Given the description of an element on the screen output the (x, y) to click on. 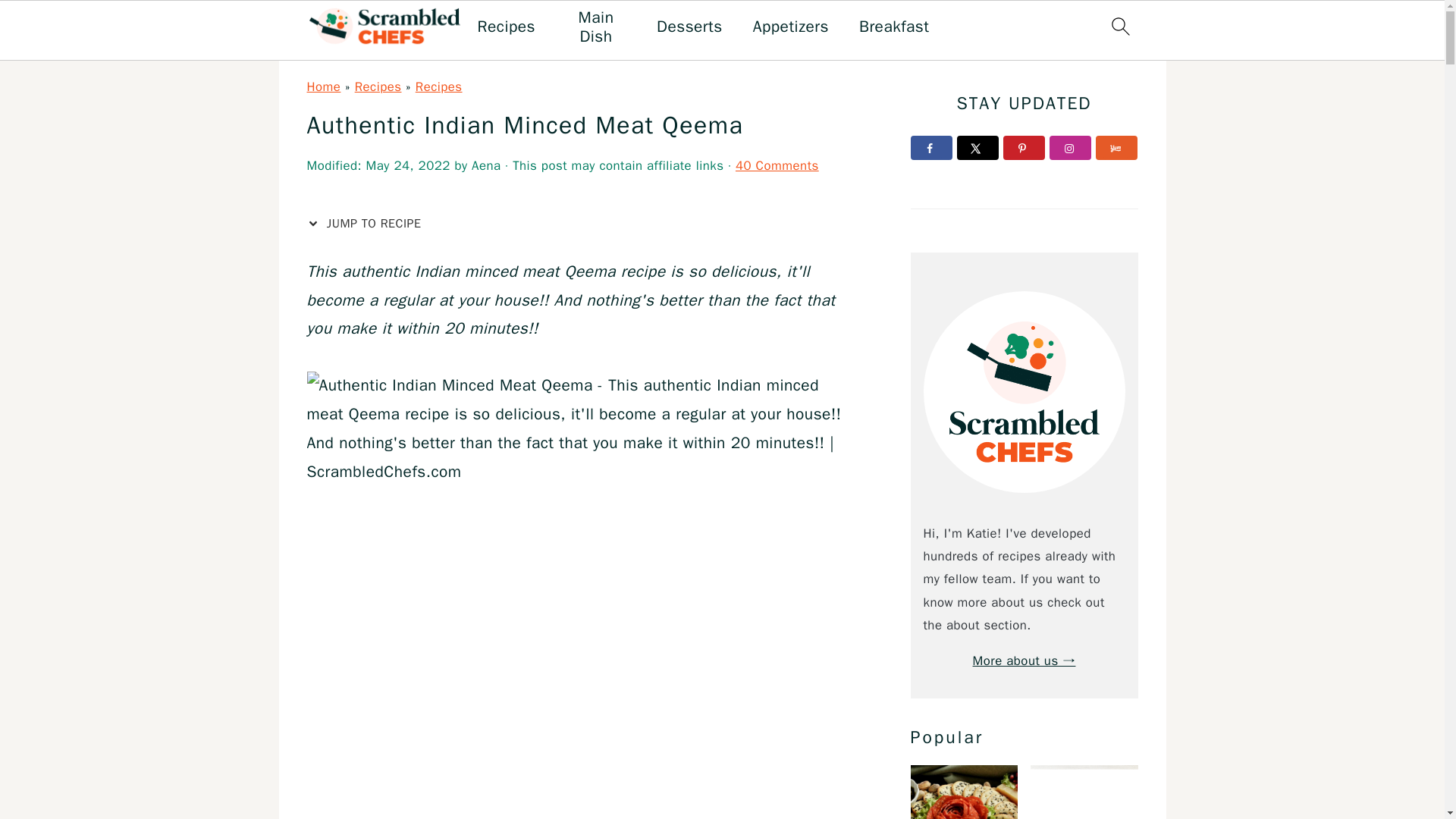
search icon (1119, 26)
Appetizers (790, 26)
Main Dish (596, 26)
Follow on Facebook (931, 147)
Breakfast (894, 26)
Follow on Pinterest (1024, 147)
Desserts (689, 26)
Follow on Instagram (1069, 147)
Follow on Yummly (1116, 147)
